Given the description of an element on the screen output the (x, y) to click on. 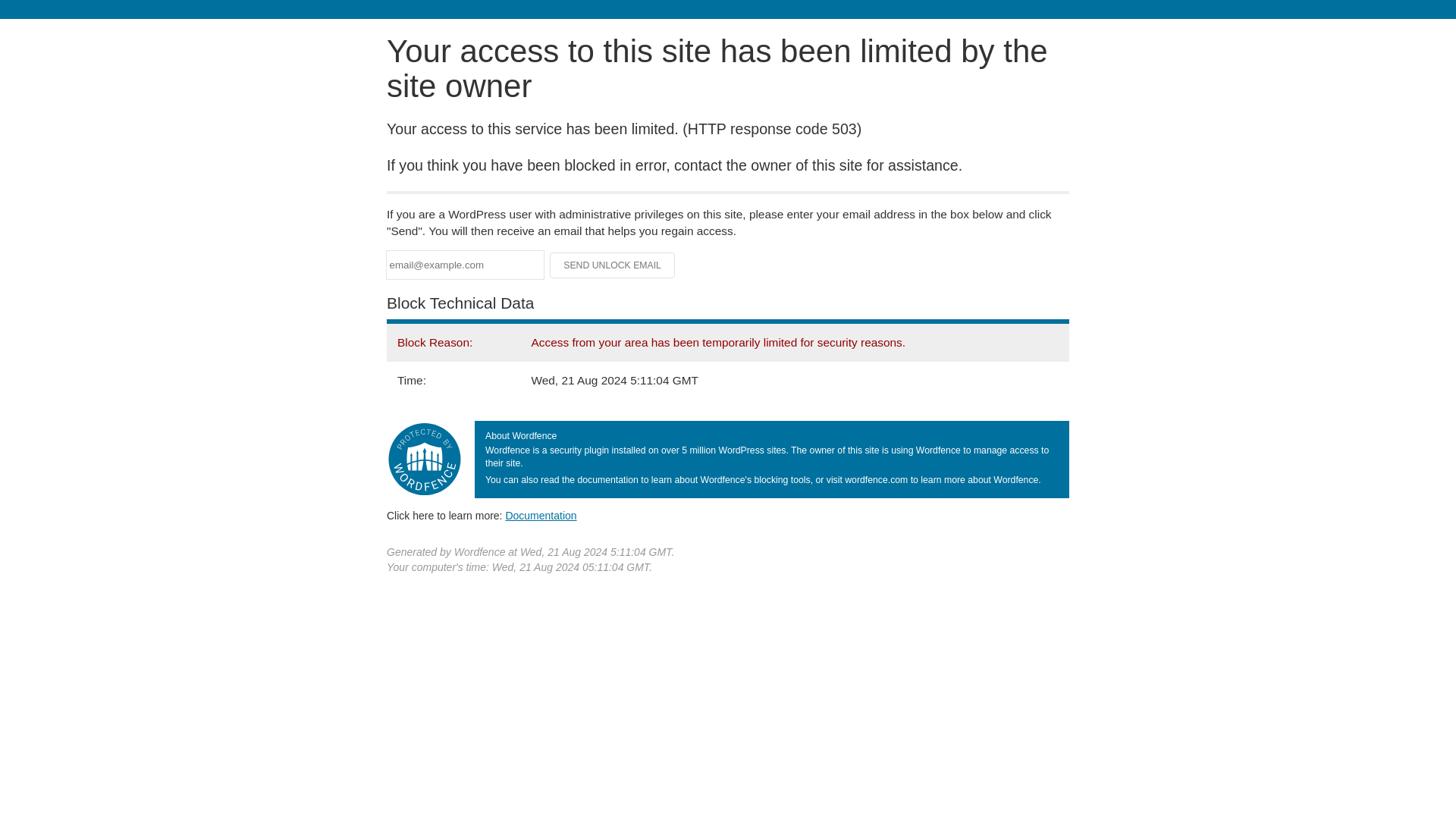
Send Unlock Email (612, 265)
Send Unlock Email (612, 265)
Documentation (540, 515)
